Given the description of an element on the screen output the (x, y) to click on. 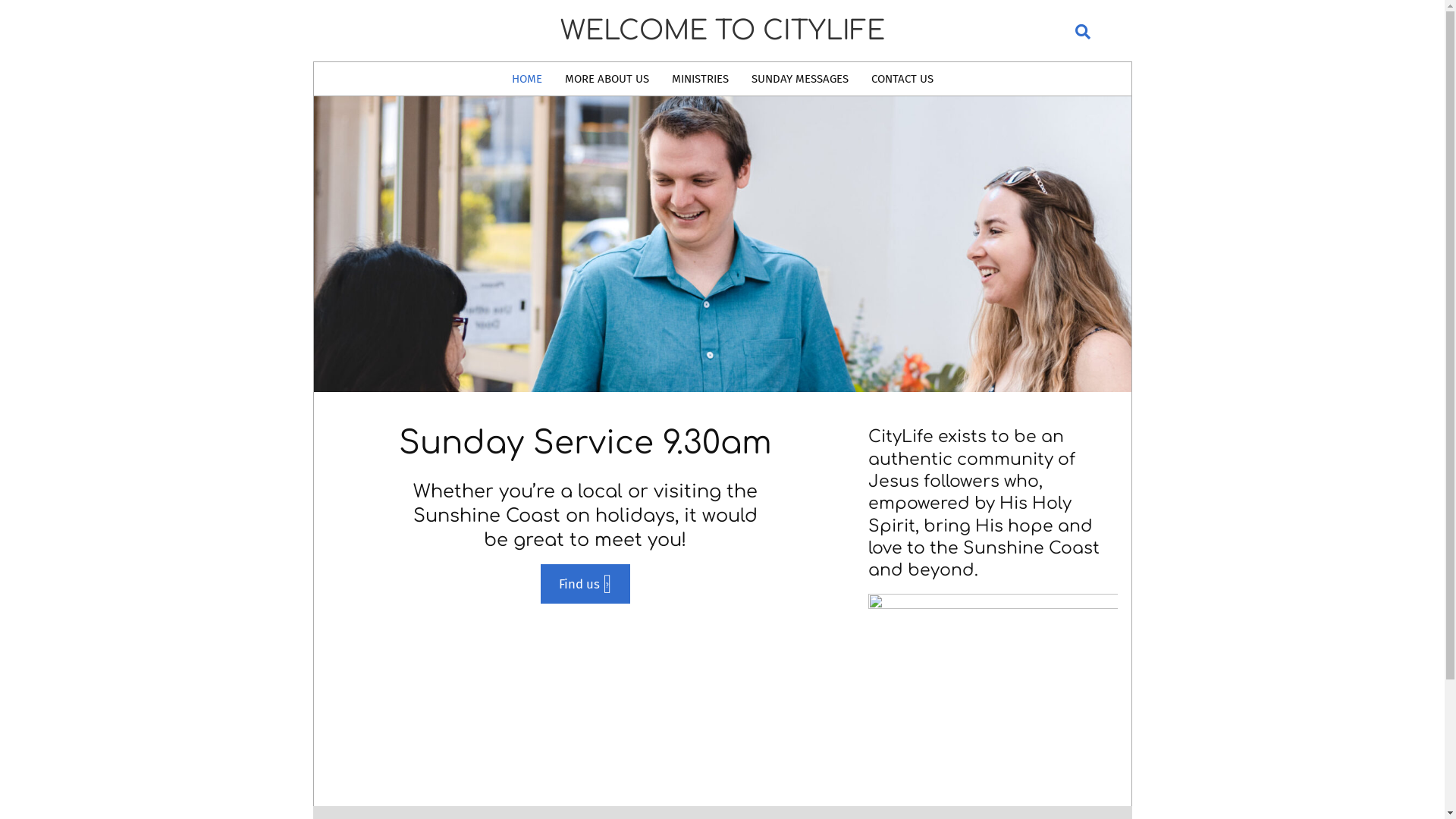
CONTACT US Element type: text (901, 78)
MINISTRIES Element type: text (699, 78)
MORE ABOUT US Element type: text (606, 78)
Search Element type: text (20, 8)
SUNDAY MESSAGES Element type: text (799, 78)
HOME Element type: text (526, 78)
WELCOME TO CITYLIFE Element type: text (721, 30)
